Given the description of an element on the screen output the (x, y) to click on. 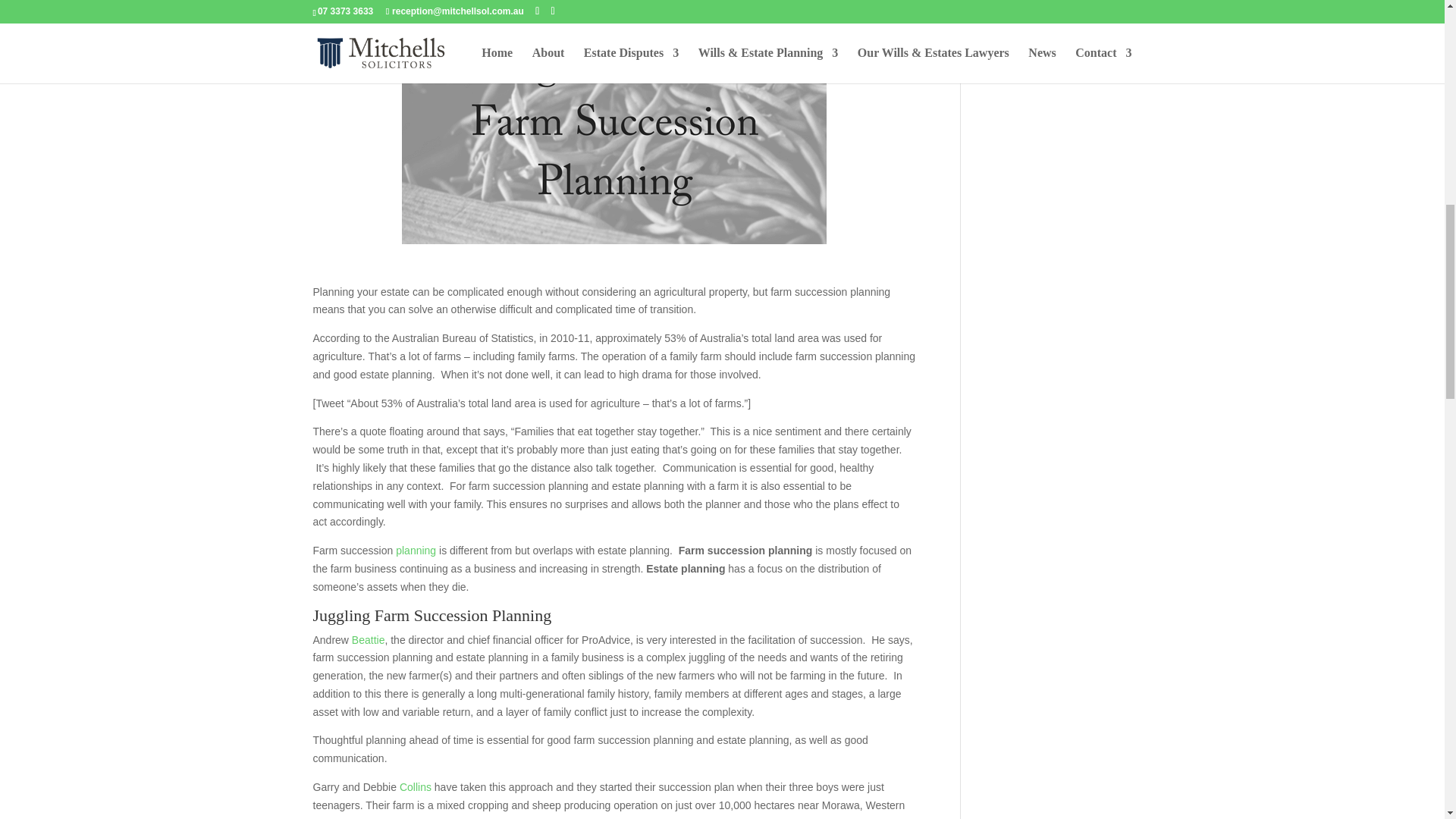
planning (415, 550)
Beattie (368, 639)
Collins (414, 787)
